Given the description of an element on the screen output the (x, y) to click on. 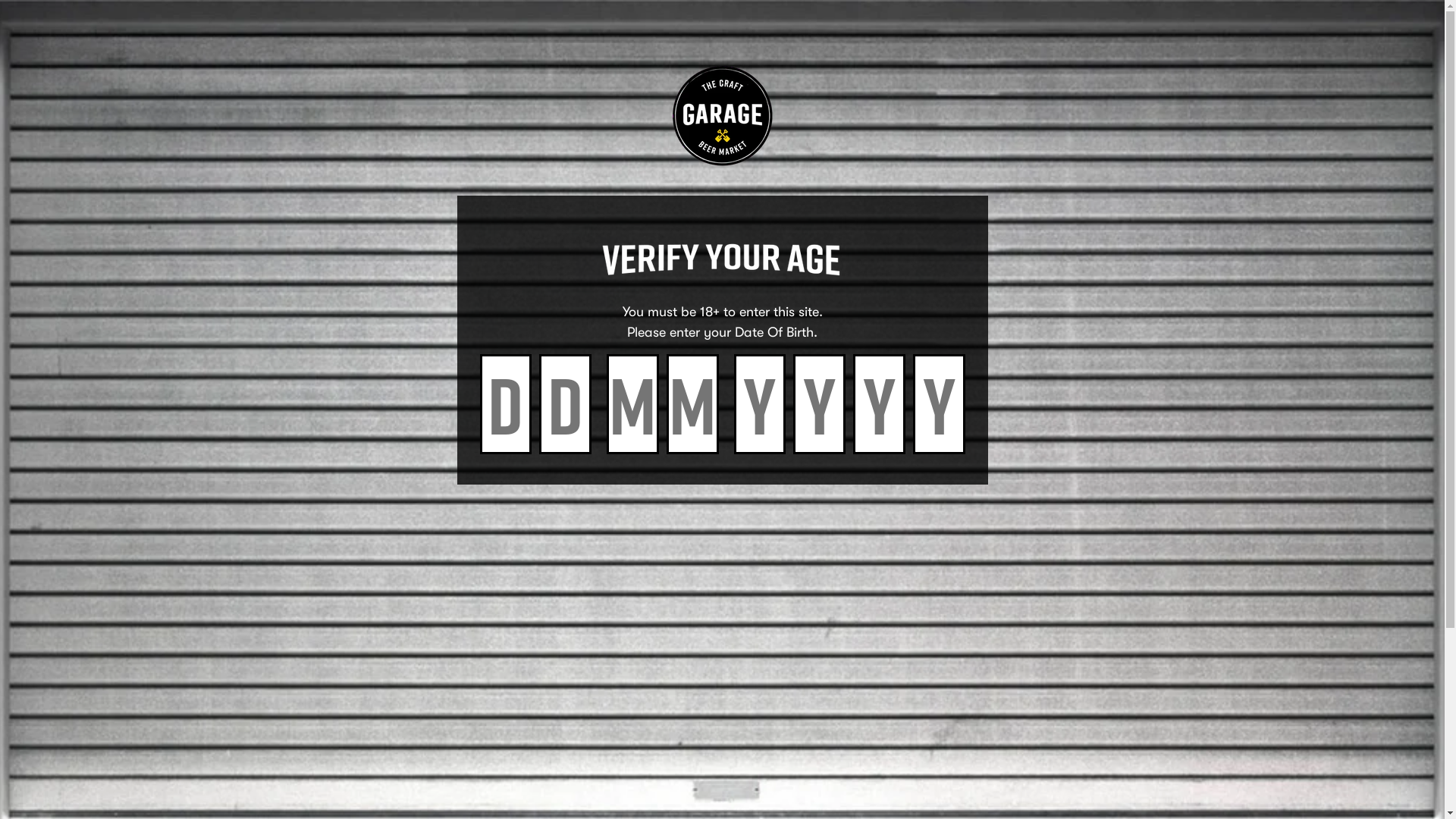
All Products Element type: text (830, 454)
Contact Us Element type: text (613, 542)
Limited Release Element type: text (830, 498)
THE BEER Element type: text (540, 43)
On Sale Element type: text (830, 564)
Core Range Element type: text (830, 476)
Merchandise Element type: text (830, 542)
About Us Element type: text (613, 498)
Spirits - COMING SOON Element type: text (830, 520)
Liquor Act Element type: text (1045, 498)
FAQs Element type: text (613, 520)
Liquor Licences Element type: text (1045, 520)
BEYOND THE BEER Element type: text (653, 43)
Privacy Policy Element type: text (1045, 454)
ABOUT Element type: text (826, 43)
SHOP Element type: text (755, 43)
CONTACT Element type: text (905, 43)
Terms Of Sale Element type: text (1045, 476)
Beyond The Beer Element type: text (613, 476)
The Beer Element type: text (613, 454)
